Given the description of an element on the screen output the (x, y) to click on. 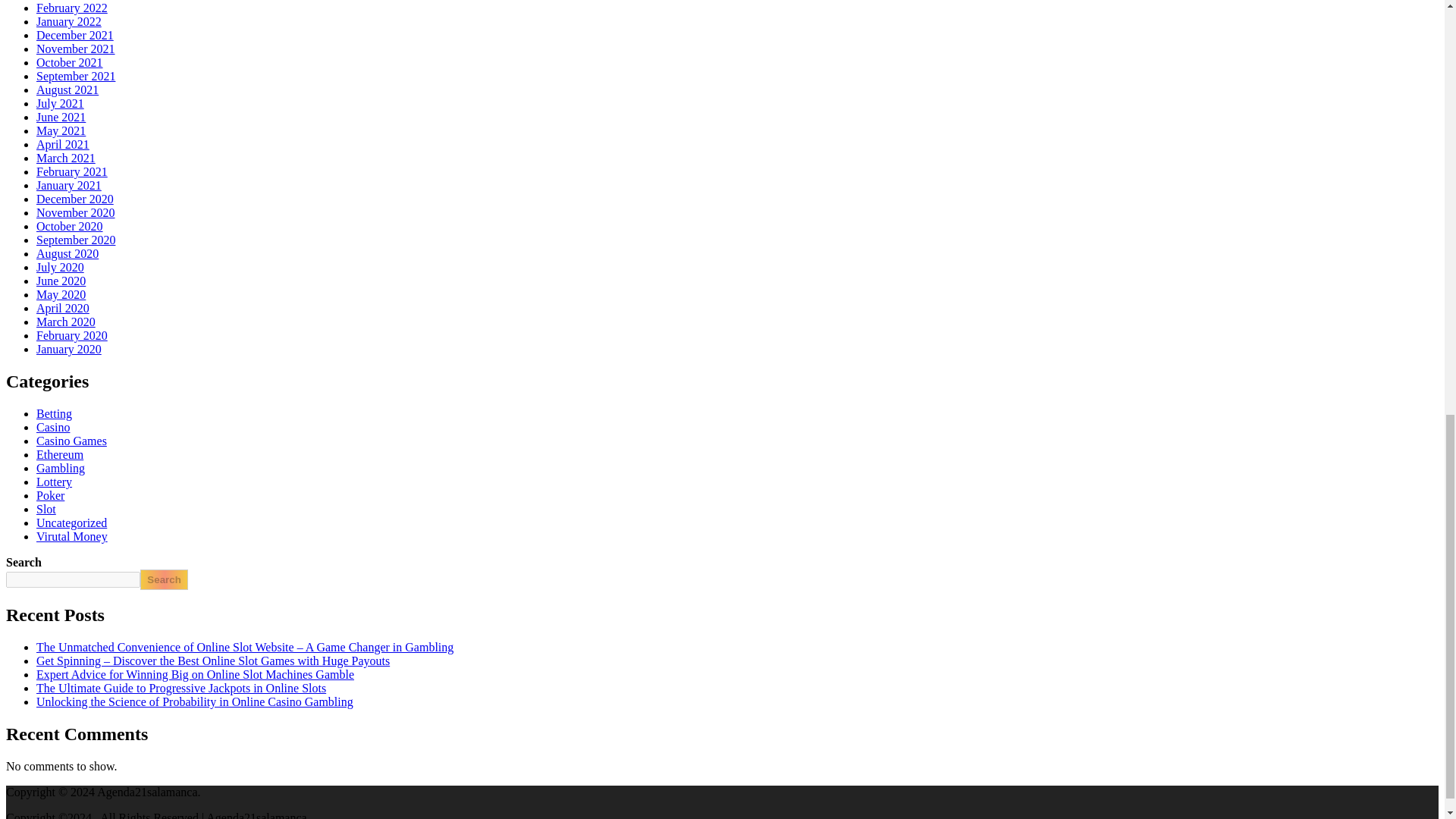
February 2022 (71, 7)
September 2021 (75, 75)
March 2022 (66, 0)
July 2021 (60, 103)
November 2021 (75, 48)
October 2021 (69, 62)
January 2022 (68, 21)
December 2021 (74, 34)
August 2021 (67, 89)
